Given the description of an element on the screen output the (x, y) to click on. 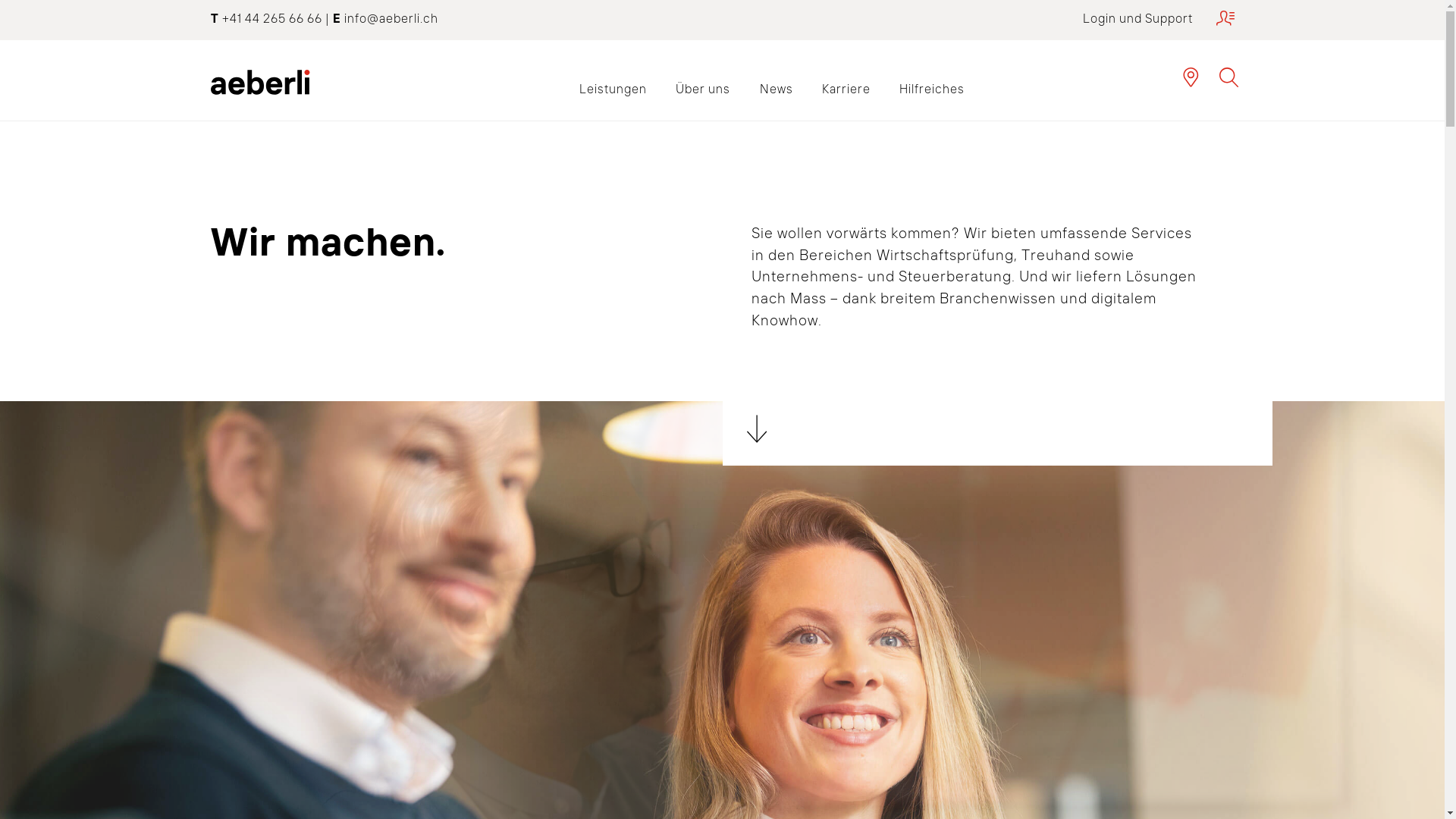
Karriere Element type: text (845, 88)
Hilfreiches Element type: text (931, 88)
Suche Element type: hover (1229, 77)
Leistungen Element type: text (612, 88)
Login und Support Element type: text (1158, 17)
News Element type: text (775, 88)
info@aeberli.ch Element type: text (391, 17)
Kontakt Element type: hover (1191, 77)
